Given the description of an element on the screen output the (x, y) to click on. 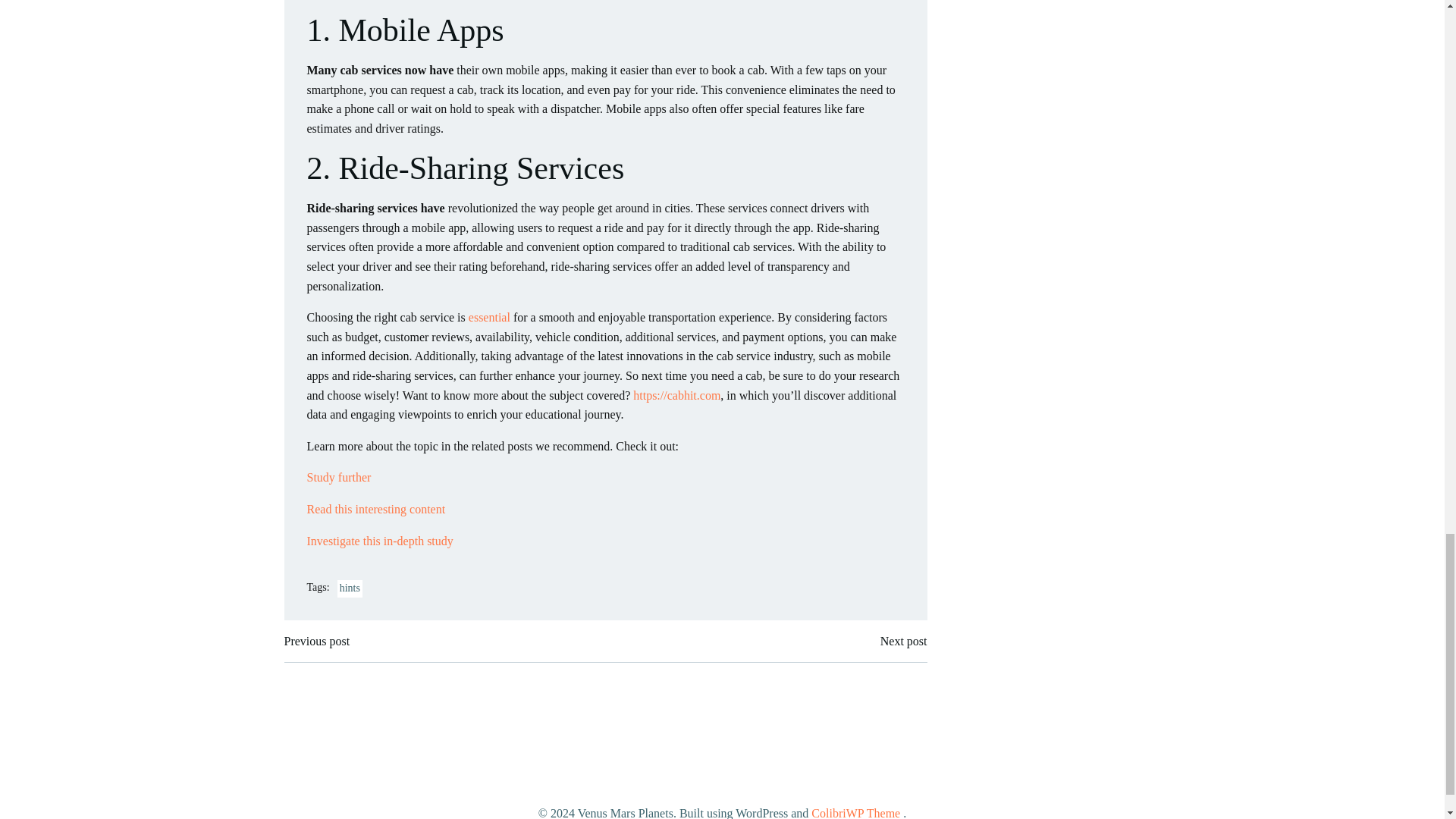
Tag: hints (349, 588)
Investigate this in-depth study (378, 540)
hints (349, 588)
Next post (903, 641)
Study further (338, 477)
Read this interesting content (375, 508)
essential (489, 317)
Previous post (316, 641)
ColibriWP Theme (854, 812)
